Given the description of an element on the screen output the (x, y) to click on. 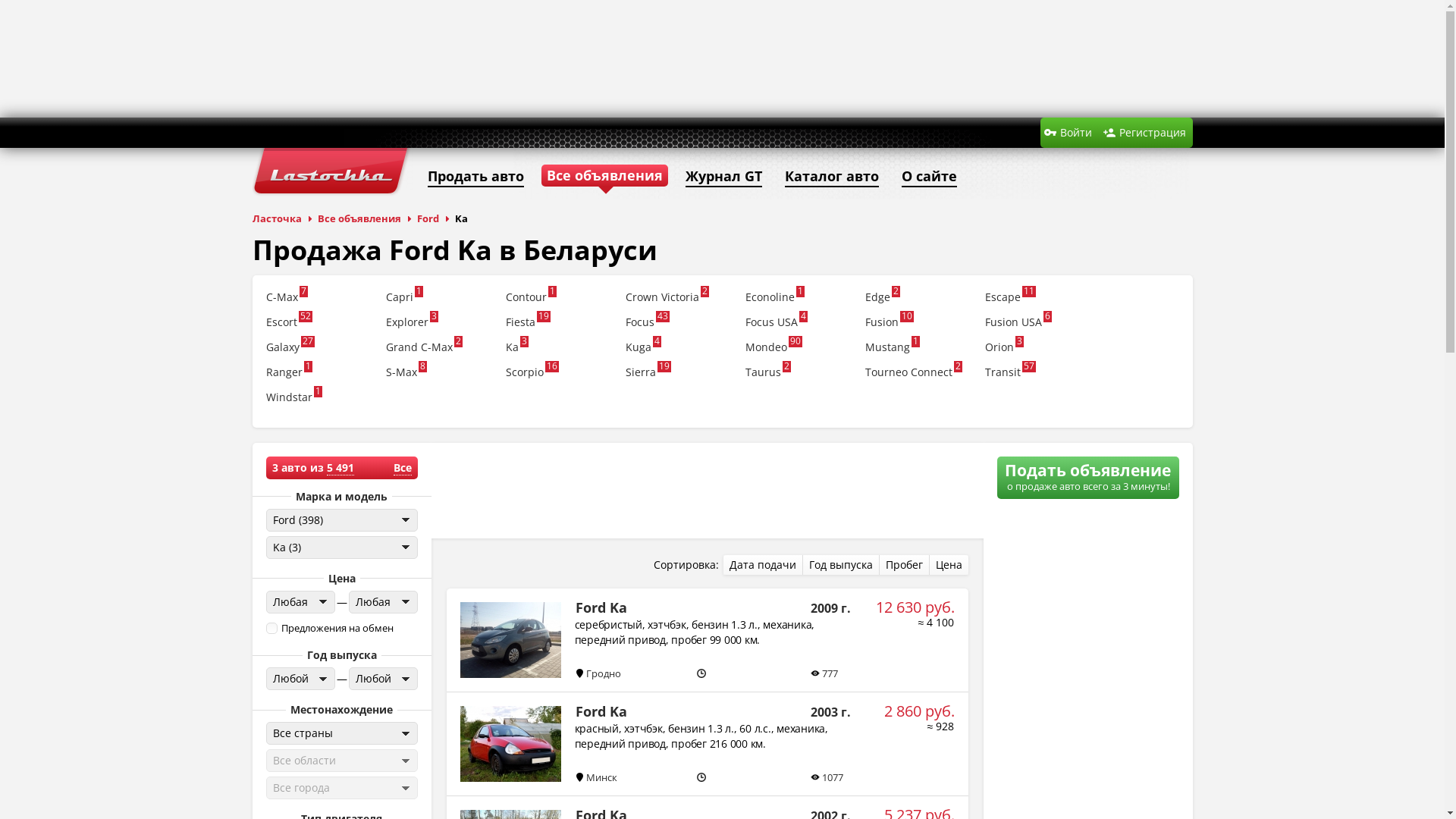
Ford Element type: text (433, 218)
Explorer
3 Element type: text (438, 325)
Ka
3 Element type: text (558, 350)
Focus
43 Element type: text (677, 325)
Escort
52 Element type: text (318, 325)
Capri
1 Element type: text (438, 300)
Fusion USA
6 Element type: text (1037, 325)
Fusion
10 Element type: text (917, 325)
Advertisement Element type: hover (706, 490)
Transit
57 Element type: text (1037, 376)
Mustang
1 Element type: text (917, 350)
Mondeo
90 Element type: text (797, 350)
Focus USA
4 Element type: text (797, 325)
C-Max
7 Element type: text (318, 300)
Galaxy
27 Element type: text (318, 350)
Sierra
19 Element type: text (677, 376)
Scorpio
16 Element type: text (558, 376)
Grand C-Max
2 Element type: text (438, 350)
Taurus
2 Element type: text (797, 376)
Escape
11 Element type: text (1037, 300)
Ford Ka Element type: text (706, 742)
5 491 Element type: text (339, 466)
Edge
2 Element type: text (917, 300)
S-Max
8 Element type: text (438, 376)
Fiesta
19 Element type: text (558, 325)
Contour
1 Element type: text (558, 300)
Windstar
1 Element type: text (318, 400)
Tourneo Connect
2 Element type: text (917, 376)
Orion
3 Element type: text (1037, 350)
Advertisement Element type: hover (721, 56)
Econoline
1 Element type: text (797, 300)
Kuga
4 Element type: text (677, 350)
Ranger
1 Element type: text (318, 376)
Crown Victoria
2 Element type: text (677, 300)
Ford Ka Element type: text (706, 639)
